Given the description of an element on the screen output the (x, y) to click on. 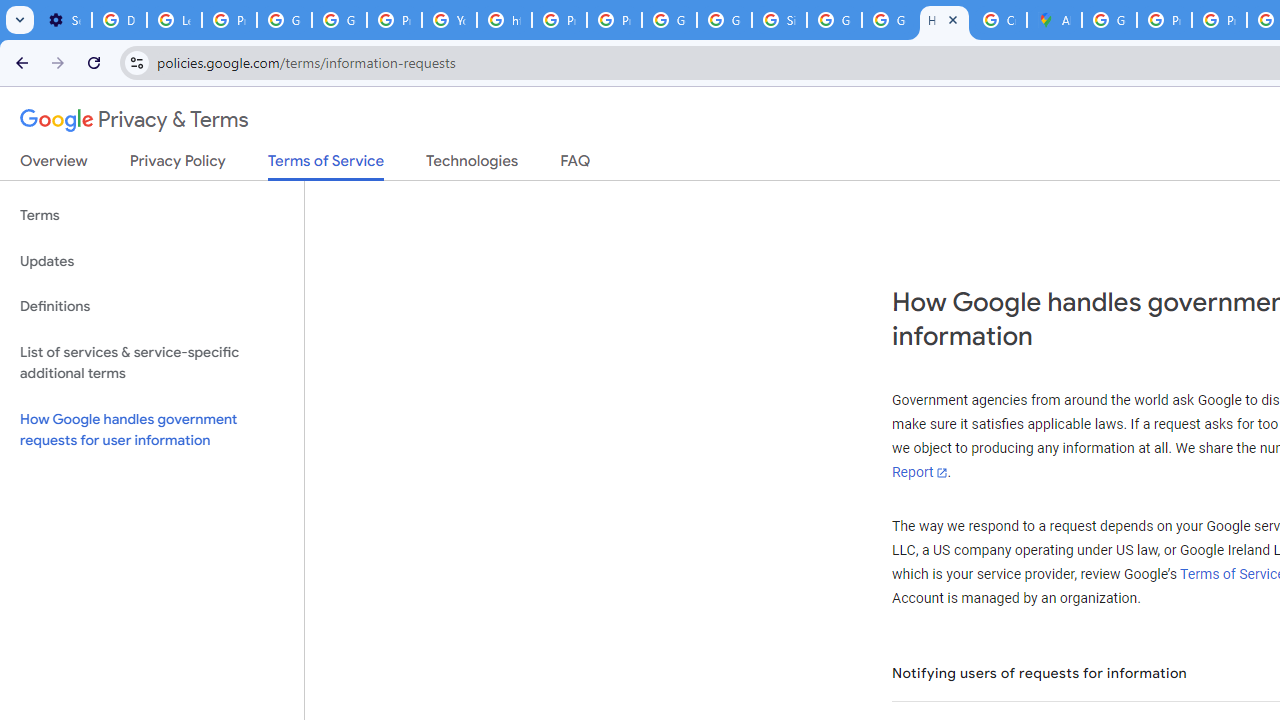
Privacy Help Center - Policies Help (1163, 20)
Privacy Help Center - Policies Help (1218, 20)
Delete photos & videos - Computer - Google Photos Help (119, 20)
Sign in - Google Accounts (779, 20)
https://scholar.google.com/ (504, 20)
